Given the description of an element on the screen output the (x, y) to click on. 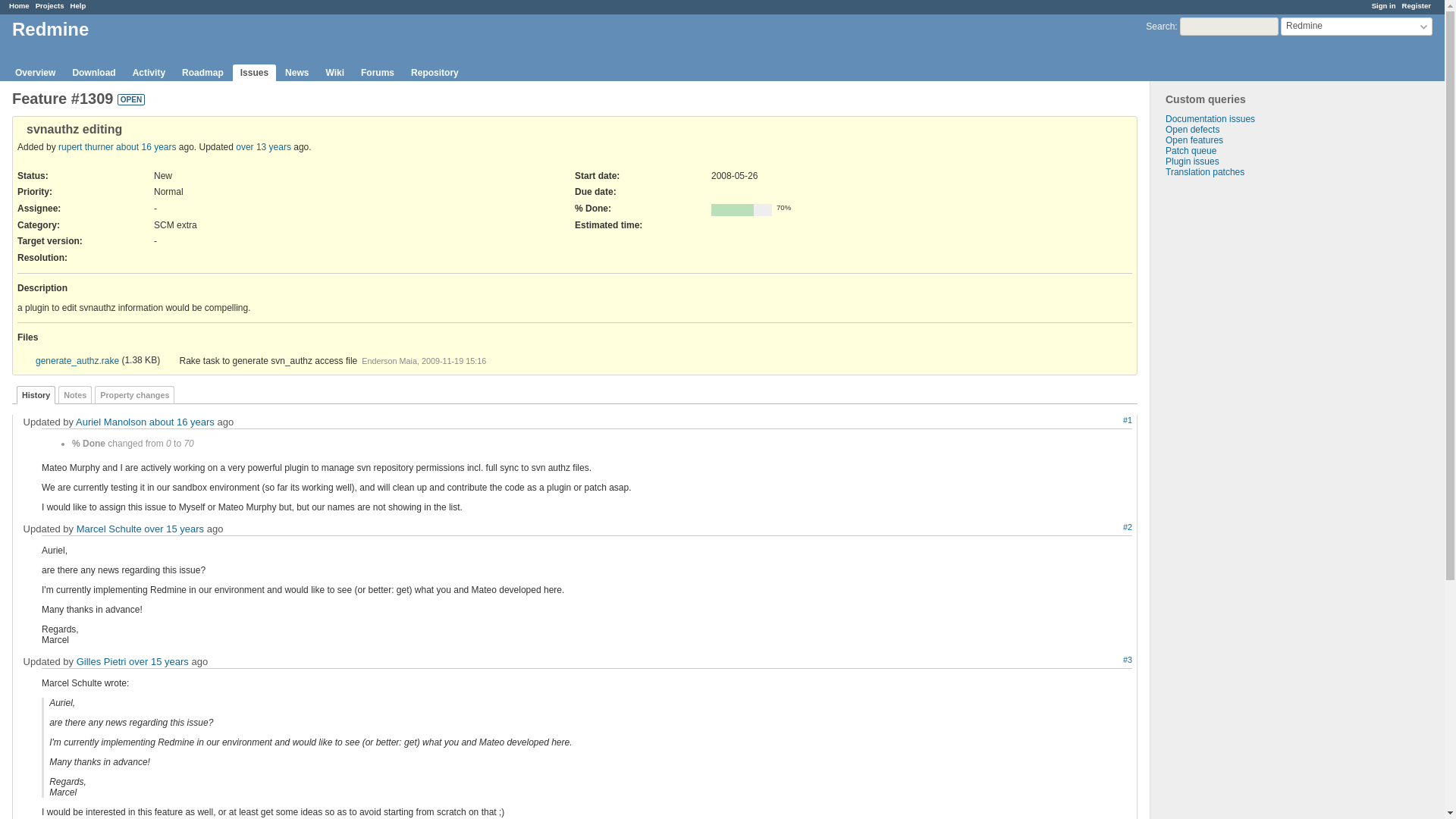
Overview (34, 72)
Property changes (134, 394)
Patch queue (1190, 150)
Issues (254, 72)
about 16 years (181, 421)
Projects (49, 5)
Home (18, 5)
2008-05-26 22:36 (181, 421)
2009-04-14 14:40 (173, 528)
History (35, 394)
Forums (377, 72)
rupert thurner (85, 146)
2009-04-20 14:48 (159, 661)
2008-05-26 21:05 (146, 146)
News (296, 72)
